Given the description of an element on the screen output the (x, y) to click on. 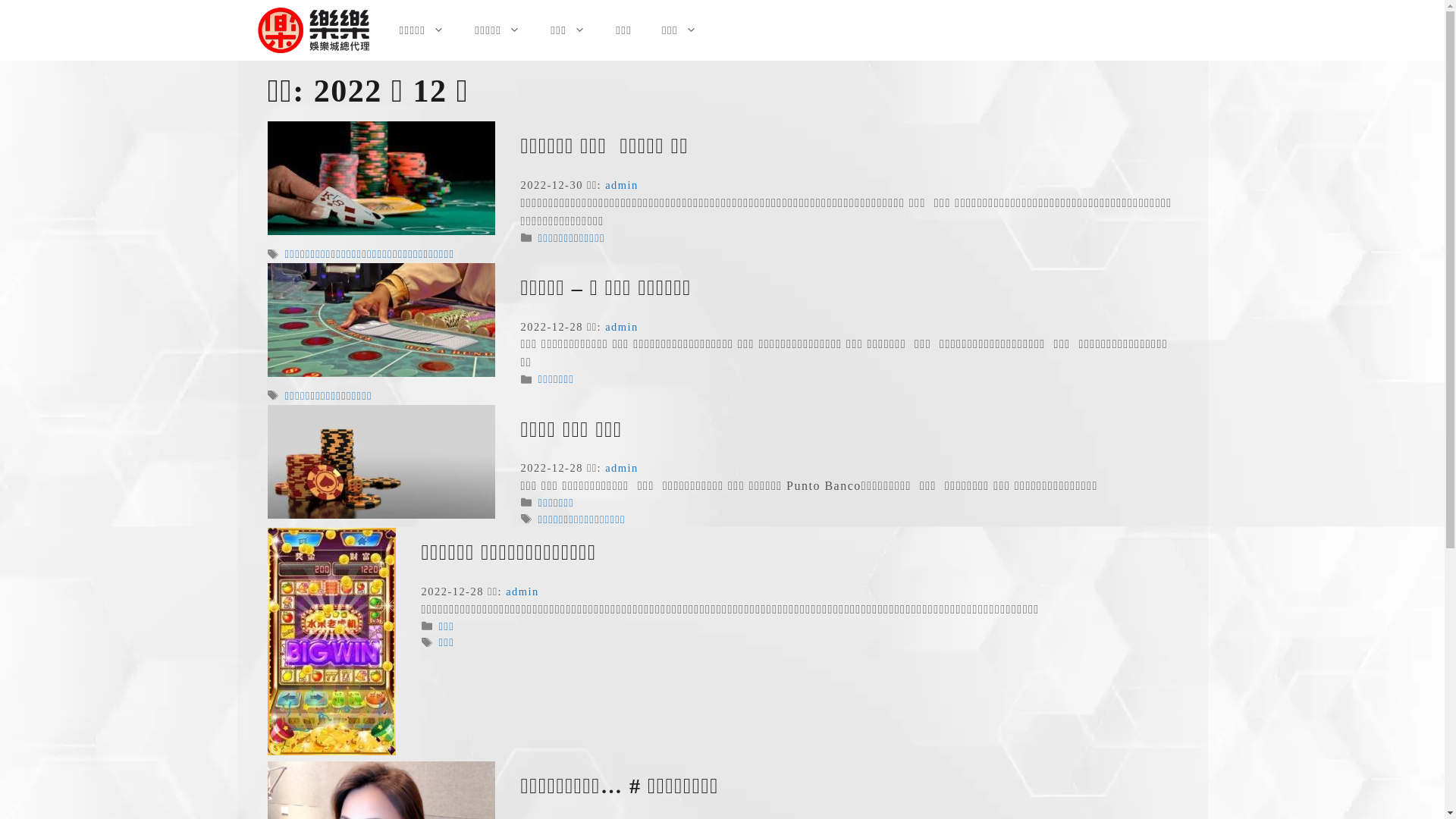
admin Element type: text (621, 467)
admin Element type: text (621, 326)
admin Element type: text (621, 184)
admin Element type: text (522, 591)
